Given the description of an element on the screen output the (x, y) to click on. 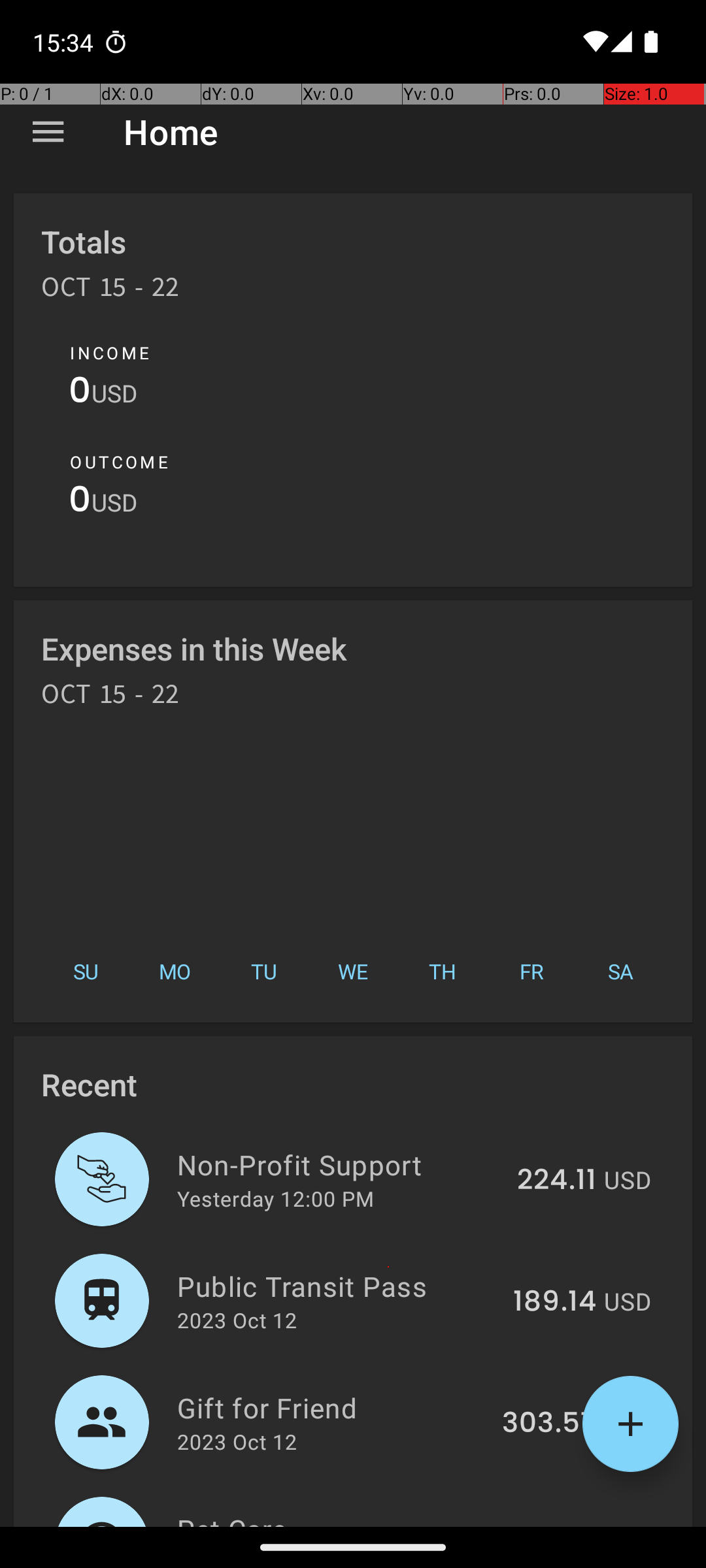
Non-Profit Support Element type: android.widget.TextView (339, 1164)
Yesterday 12:00 PM Element type: android.widget.TextView (275, 1198)
224.11 Element type: android.widget.TextView (556, 1180)
Public Transit Pass Element type: android.widget.TextView (337, 1285)
189.14 Element type: android.widget.TextView (554, 1301)
303.57 Element type: android.widget.TextView (548, 1423)
Pet Care Element type: android.widget.TextView (343, 1518)
38.14 Element type: android.widget.TextView (560, 1524)
